Given the description of an element on the screen output the (x, y) to click on. 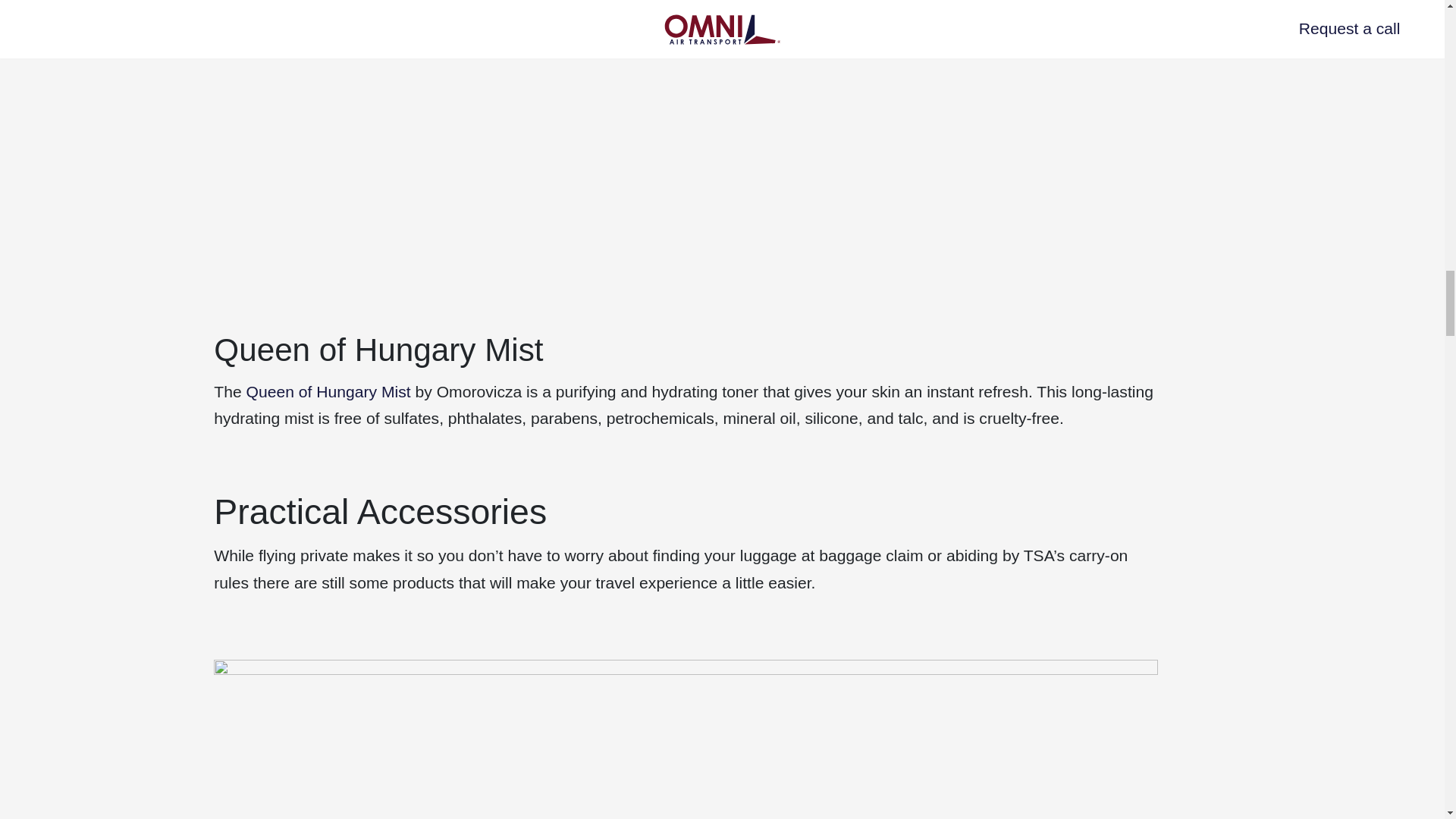
Queen of Hungary Mist (328, 391)
